Given the description of an element on the screen output the (x, y) to click on. 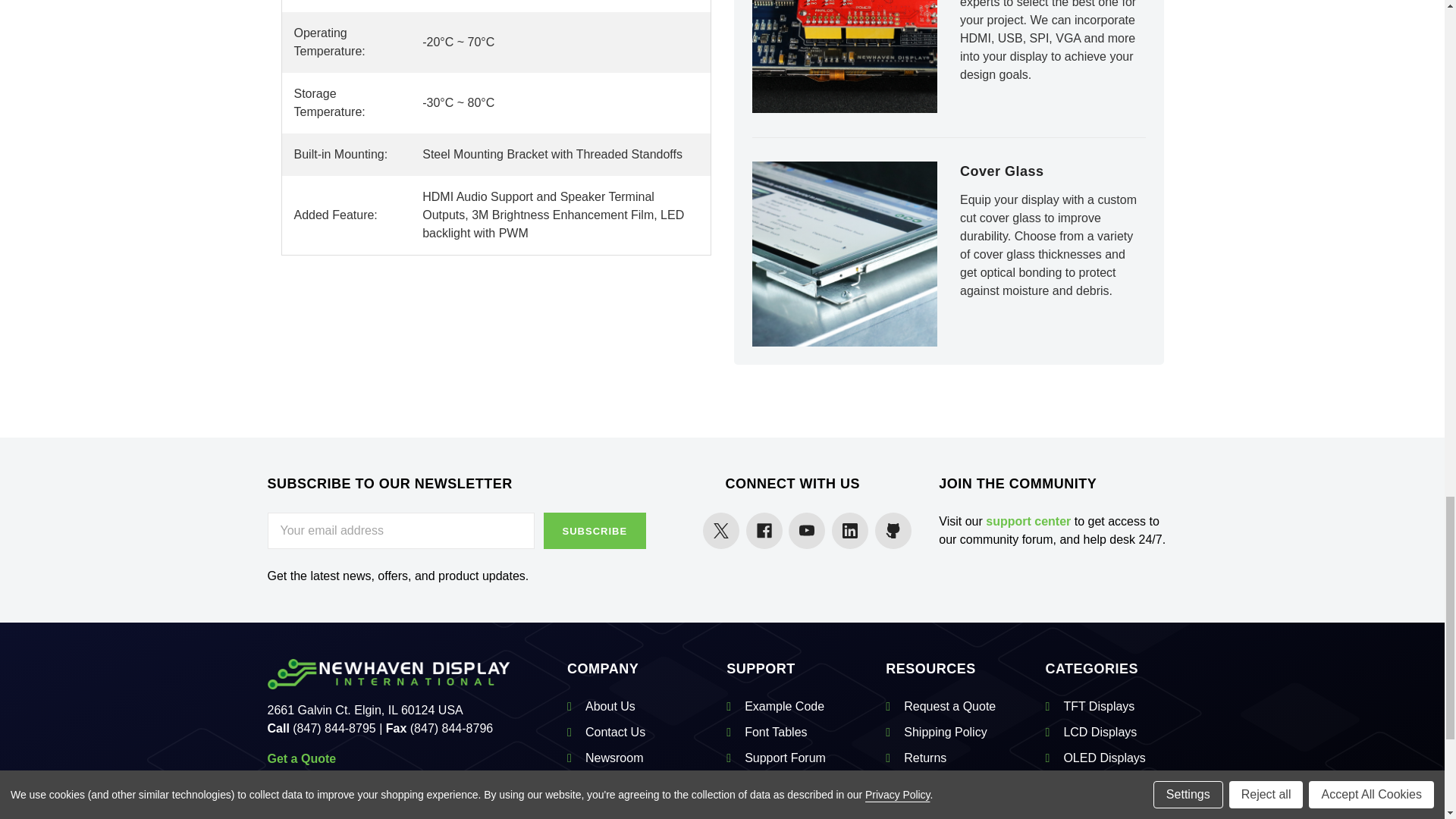
Subscribe (594, 530)
Newhaven  Display (387, 674)
